Given the description of an element on the screen output the (x, y) to click on. 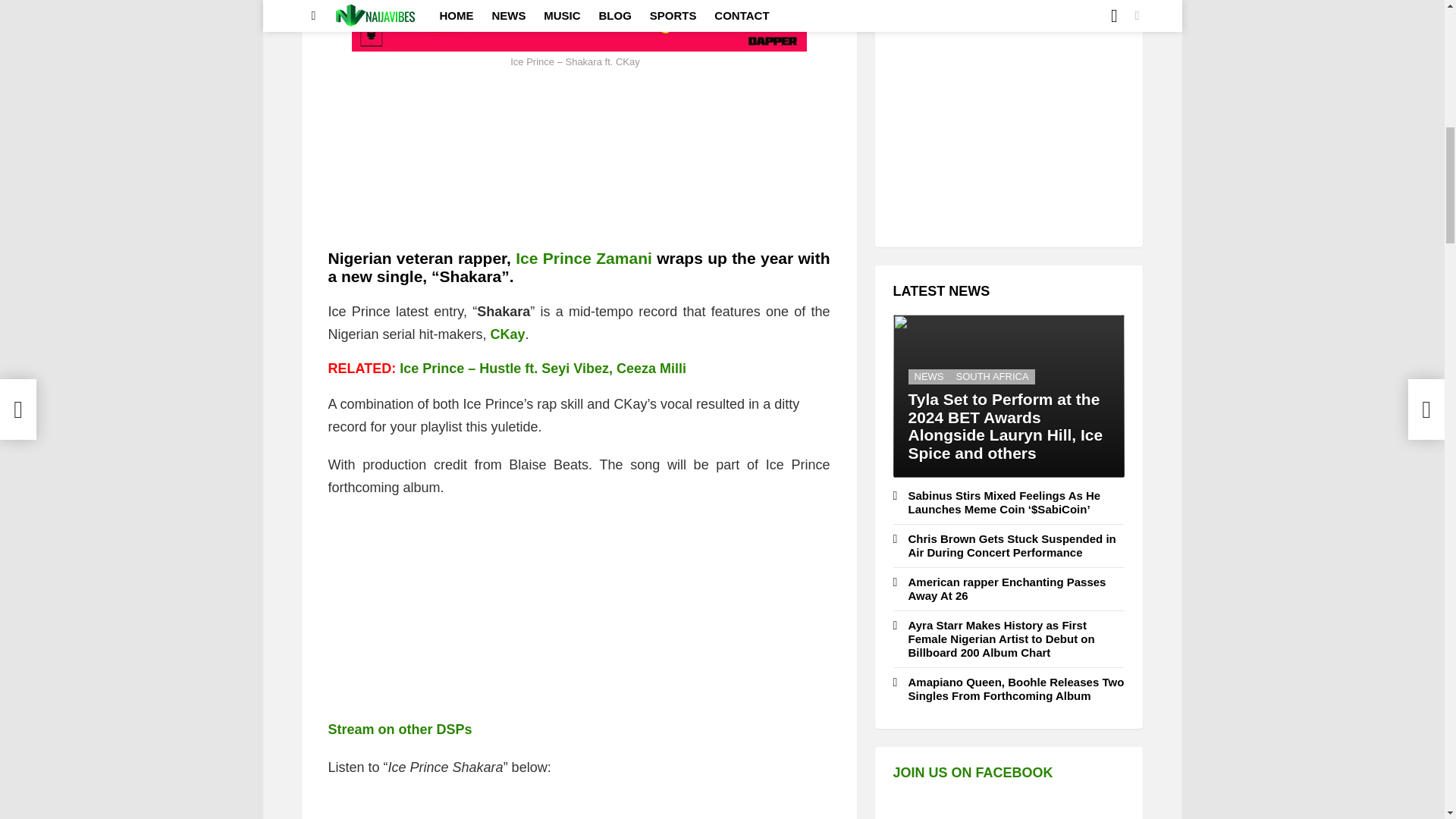
Ice Prince Zamani (583, 257)
CKay (507, 334)
Stream on other DSPs (399, 729)
YouTube player (578, 806)
